Given the description of an element on the screen output the (x, y) to click on. 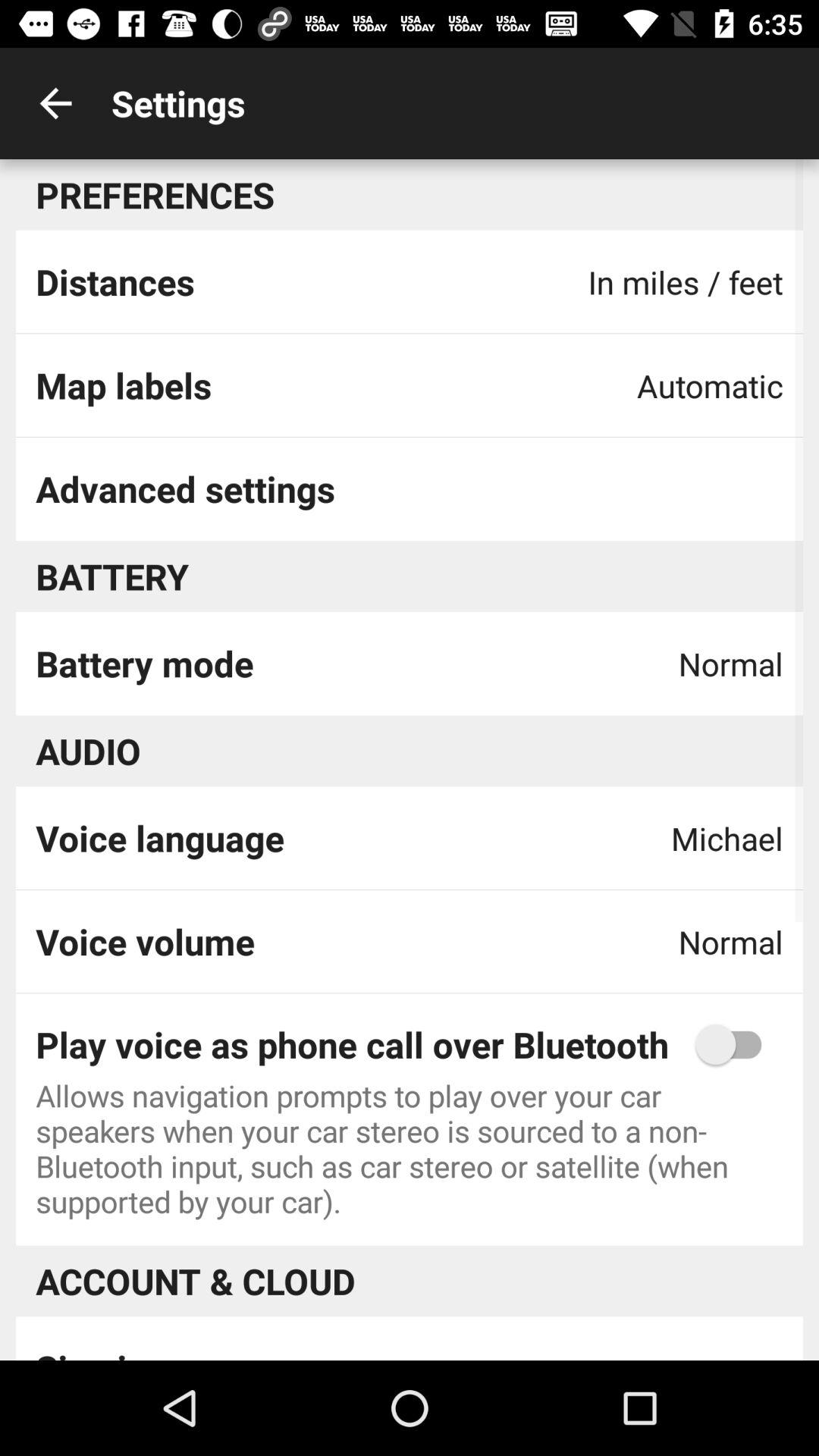
turn off the michael app (727, 837)
